Given the description of an element on the screen output the (x, y) to click on. 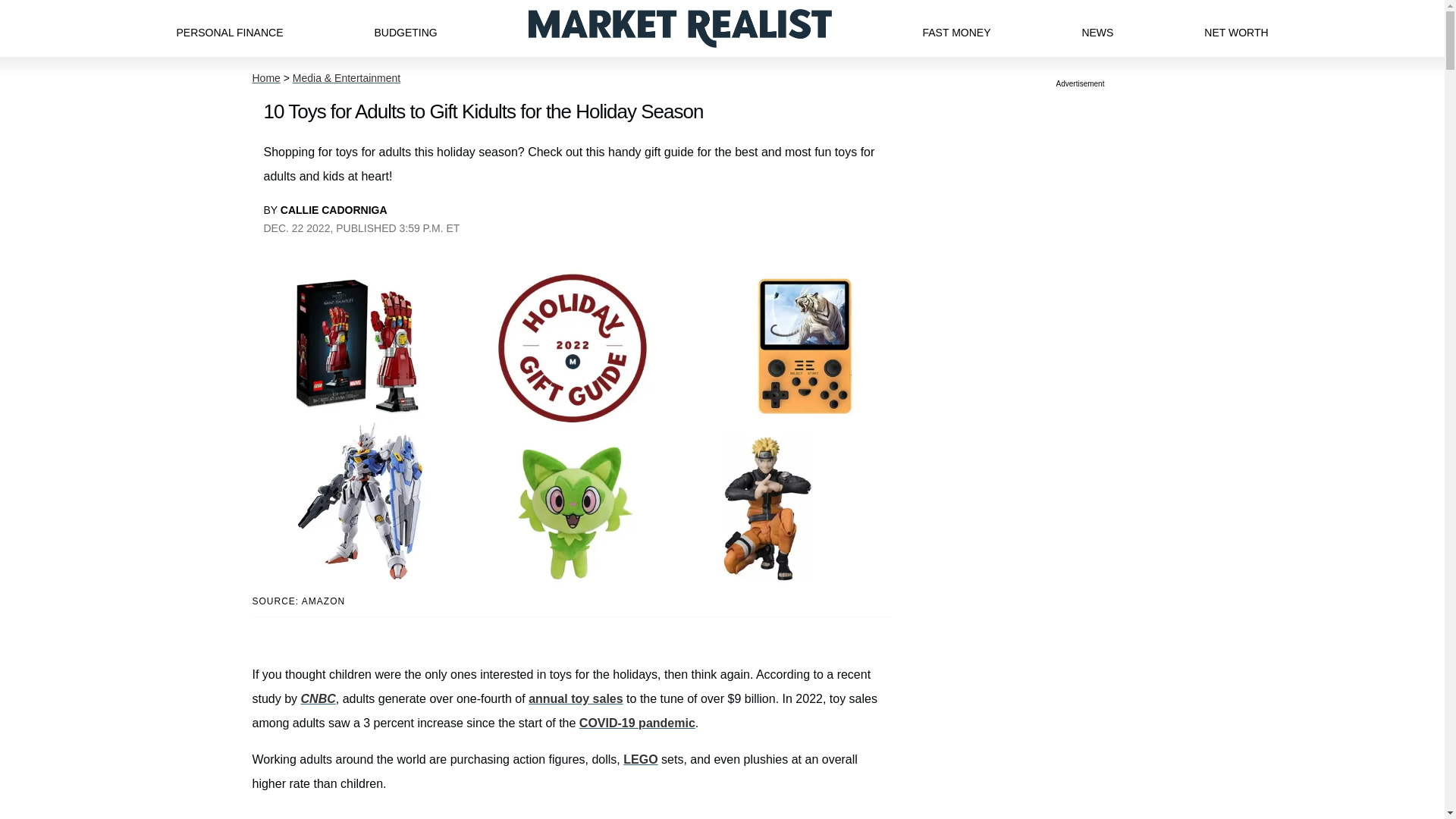
Home (265, 78)
annual toy sales (575, 698)
CALLIE CADORNIGA (334, 209)
BUDGETING (405, 27)
LEGO (640, 758)
FAST MONEY (955, 27)
NET WORTH (1236, 27)
NEWS (1097, 27)
COVID-19 pandemic (637, 722)
CNBC (318, 698)
PERSONAL FINANCE (229, 27)
